Given the description of an element on the screen output the (x, y) to click on. 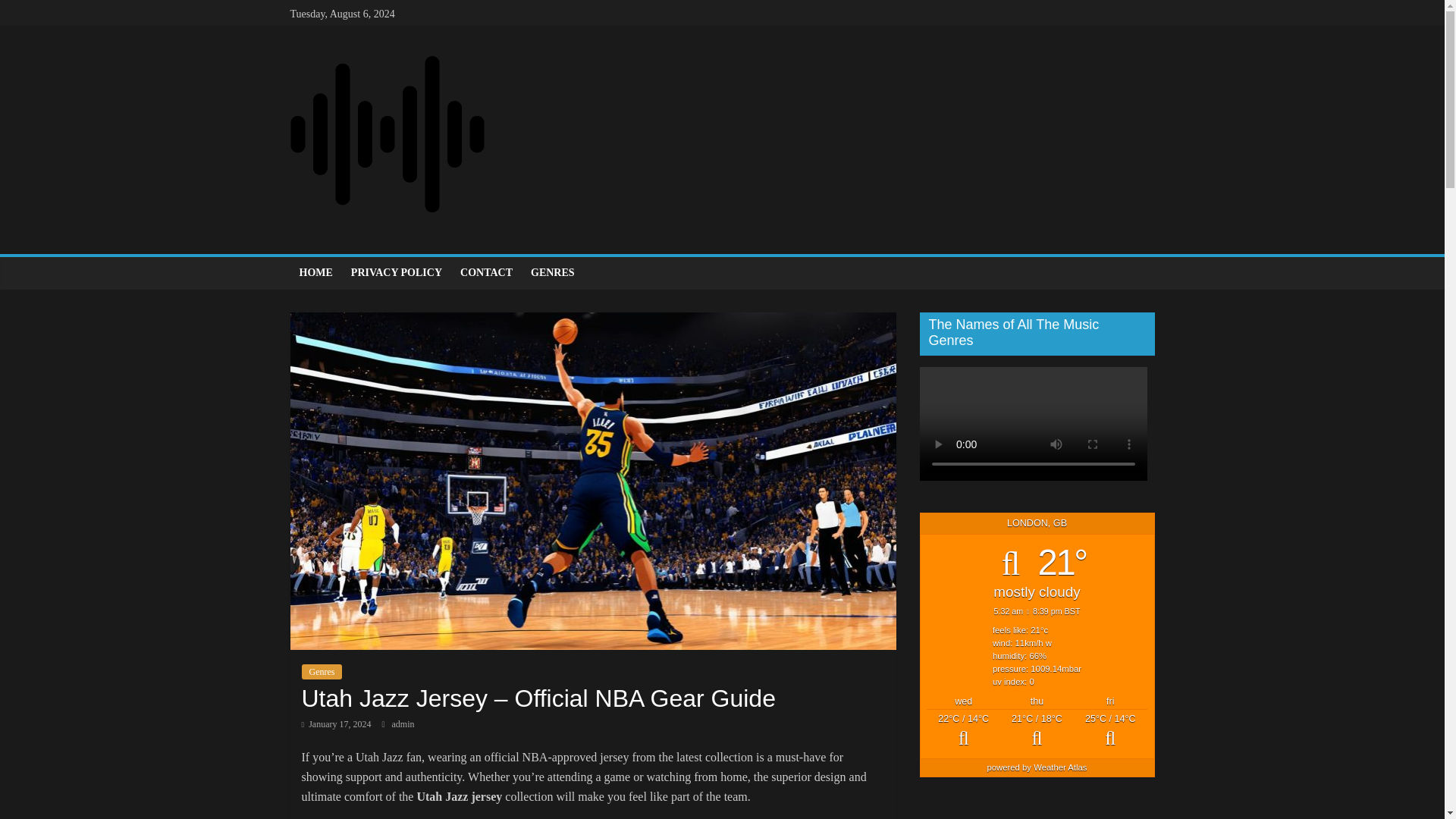
Mostly Cloudy (963, 731)
CONTACT (486, 273)
HOME (314, 273)
PRIVACY POLICY (396, 273)
January 17, 2024 (336, 724)
GENRES (552, 273)
5:23 pm (336, 724)
admin (402, 724)
Mostly Cloudy (1037, 731)
admin (402, 724)
Genres (321, 671)
